Given the description of an element on the screen output the (x, y) to click on. 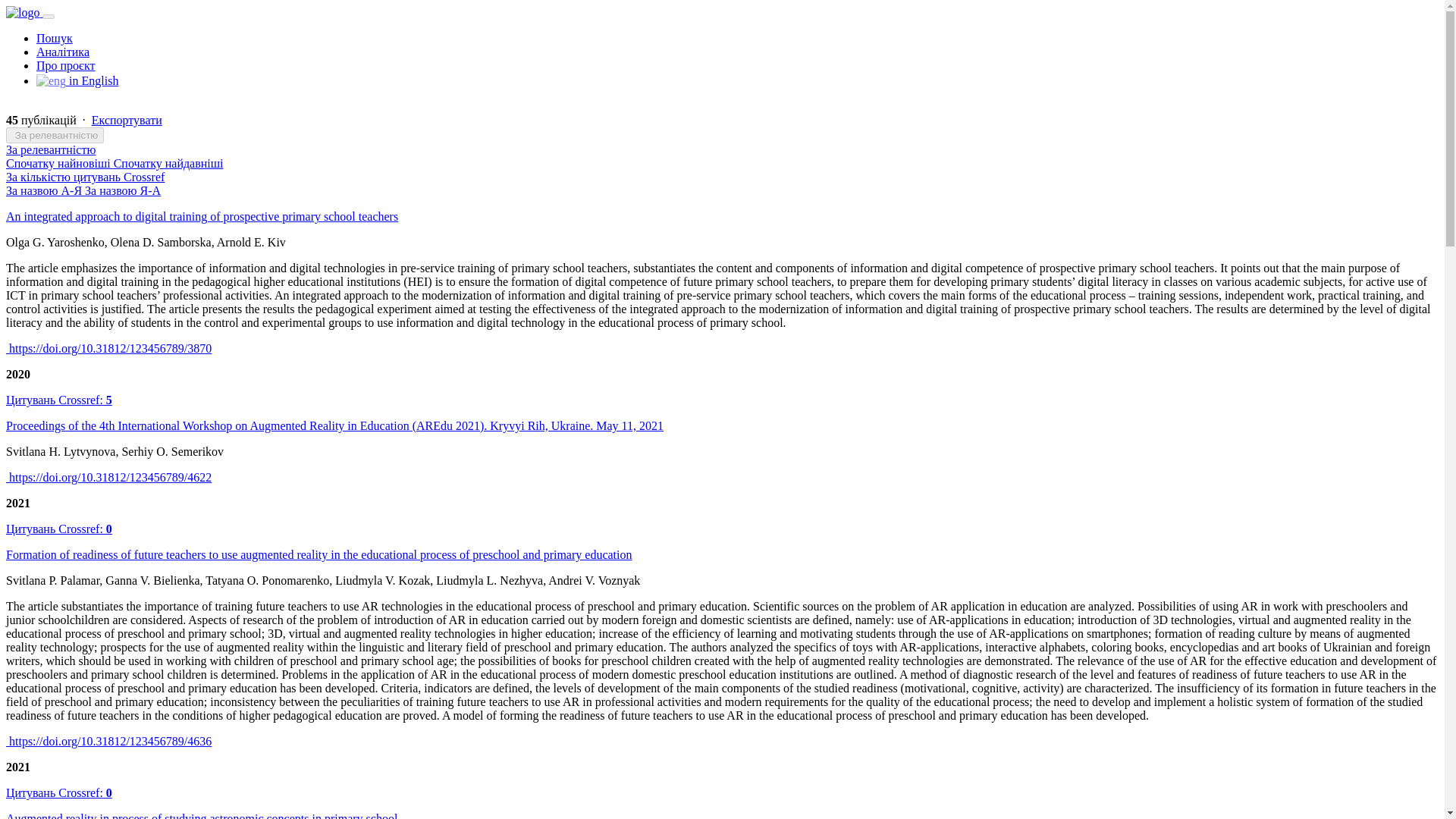
in English (76, 80)
